Given the description of an element on the screen output the (x, y) to click on. 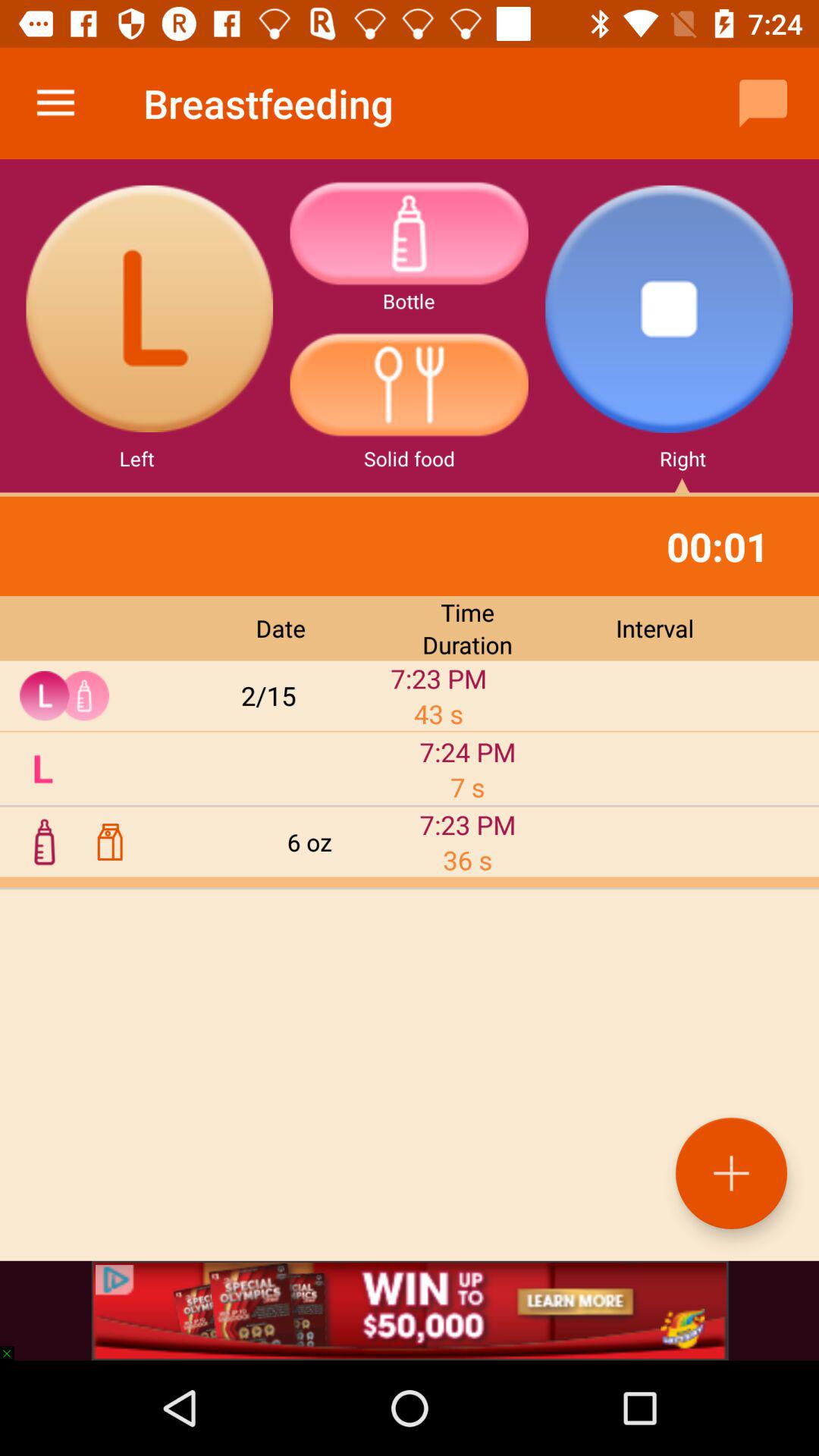
choose the icon to the left of the breastfeeding icon (55, 103)
